Given the description of an element on the screen output the (x, y) to click on. 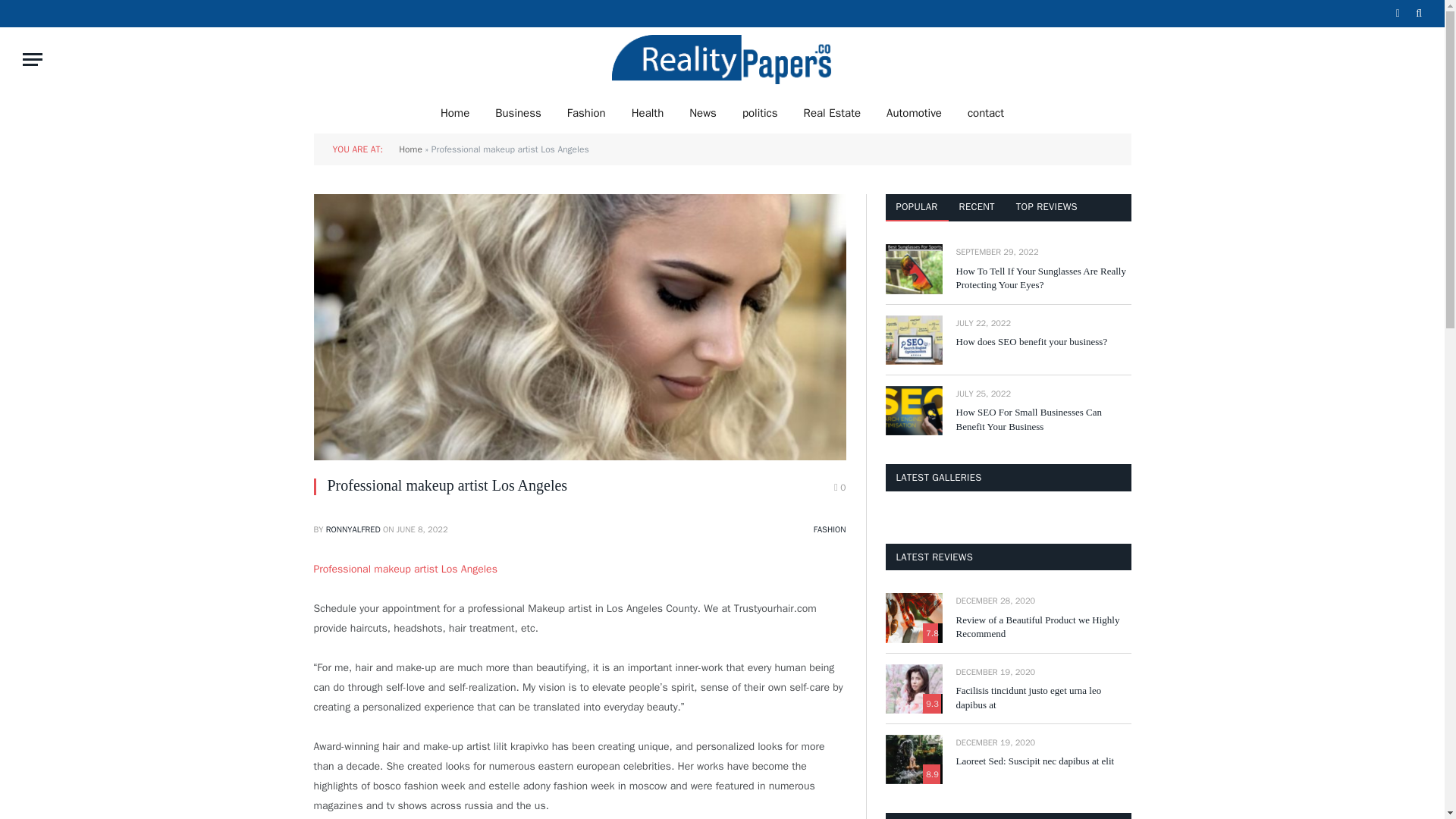
politics (759, 112)
contact (985, 112)
Professional makeup artist Los Angeles (405, 568)
Fashion (586, 112)
Switch to Dark Design - easier on eyes. (1397, 13)
Reality Papers (721, 59)
RONNYALFRED (353, 529)
Home (454, 112)
Business (517, 112)
FASHION (829, 529)
Health (647, 112)
Automotive (914, 112)
News (703, 112)
Home (410, 149)
Real Estate (831, 112)
